Given the description of an element on the screen output the (x, y) to click on. 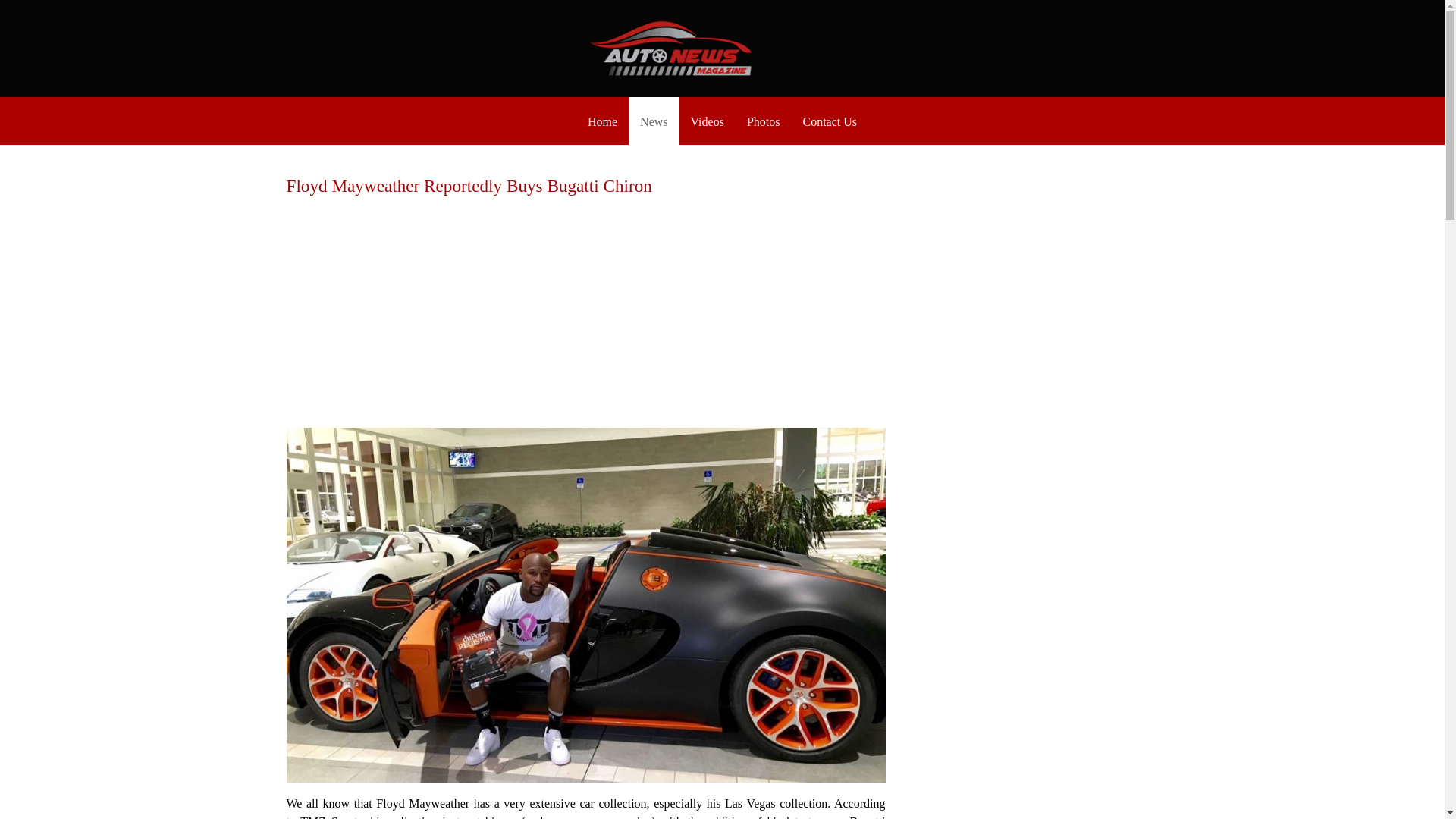
Advertisement (586, 297)
Photos (763, 120)
Home (602, 120)
News (653, 120)
Videos (707, 120)
Contact Us (828, 120)
